Given the description of an element on the screen output the (x, y) to click on. 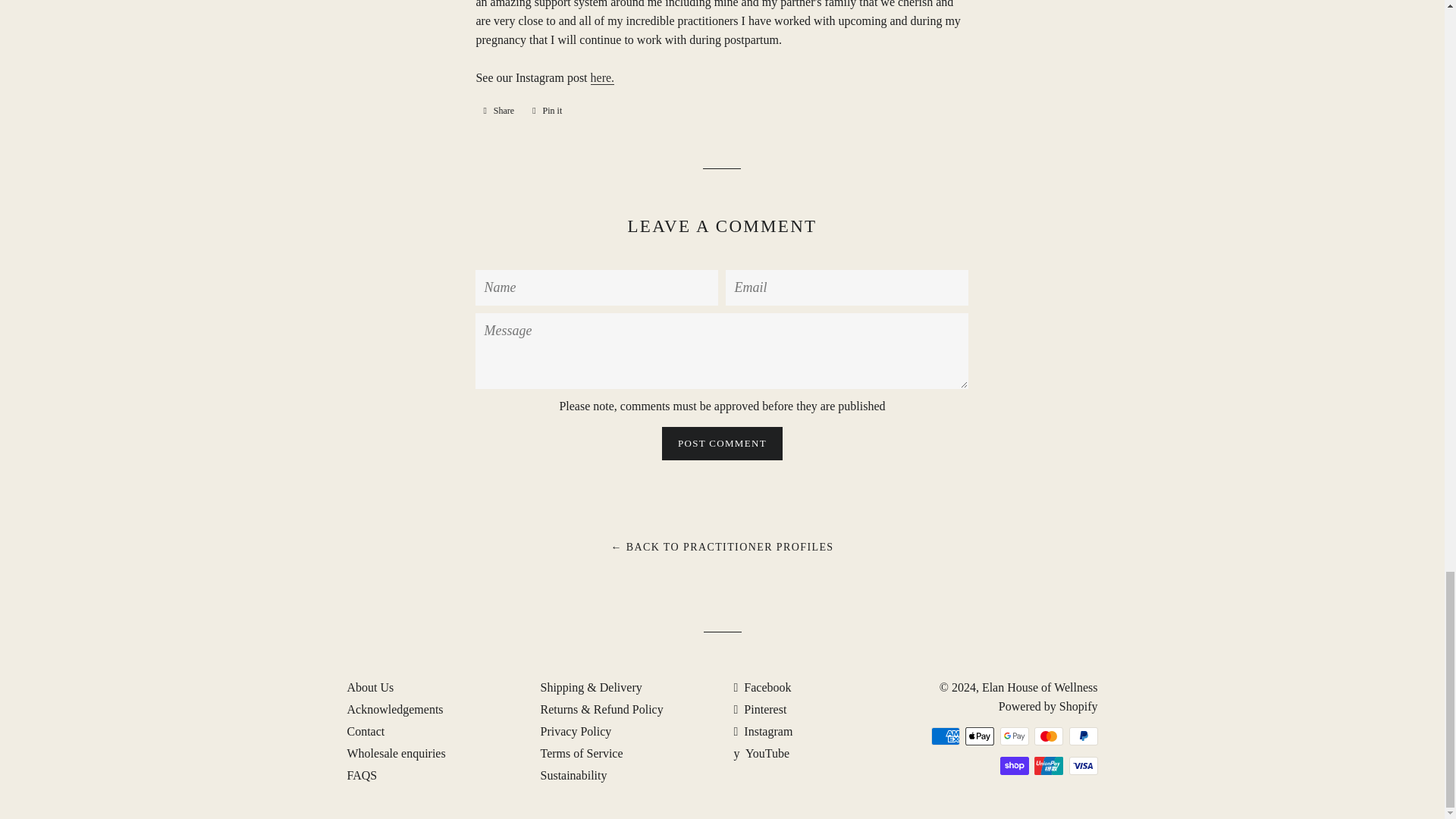
Apple Pay (979, 736)
Mastercard (1047, 736)
Visa (1082, 765)
Share on Facebook (498, 110)
PayPal (1082, 736)
Elan House of Wellness on YouTube (761, 753)
Elan House of Wellness on Instagram (763, 730)
Pin on Pinterest (546, 110)
Shop Pay (1012, 765)
Elan House of Wellness on Pinterest (760, 708)
